Given the description of an element on the screen output the (x, y) to click on. 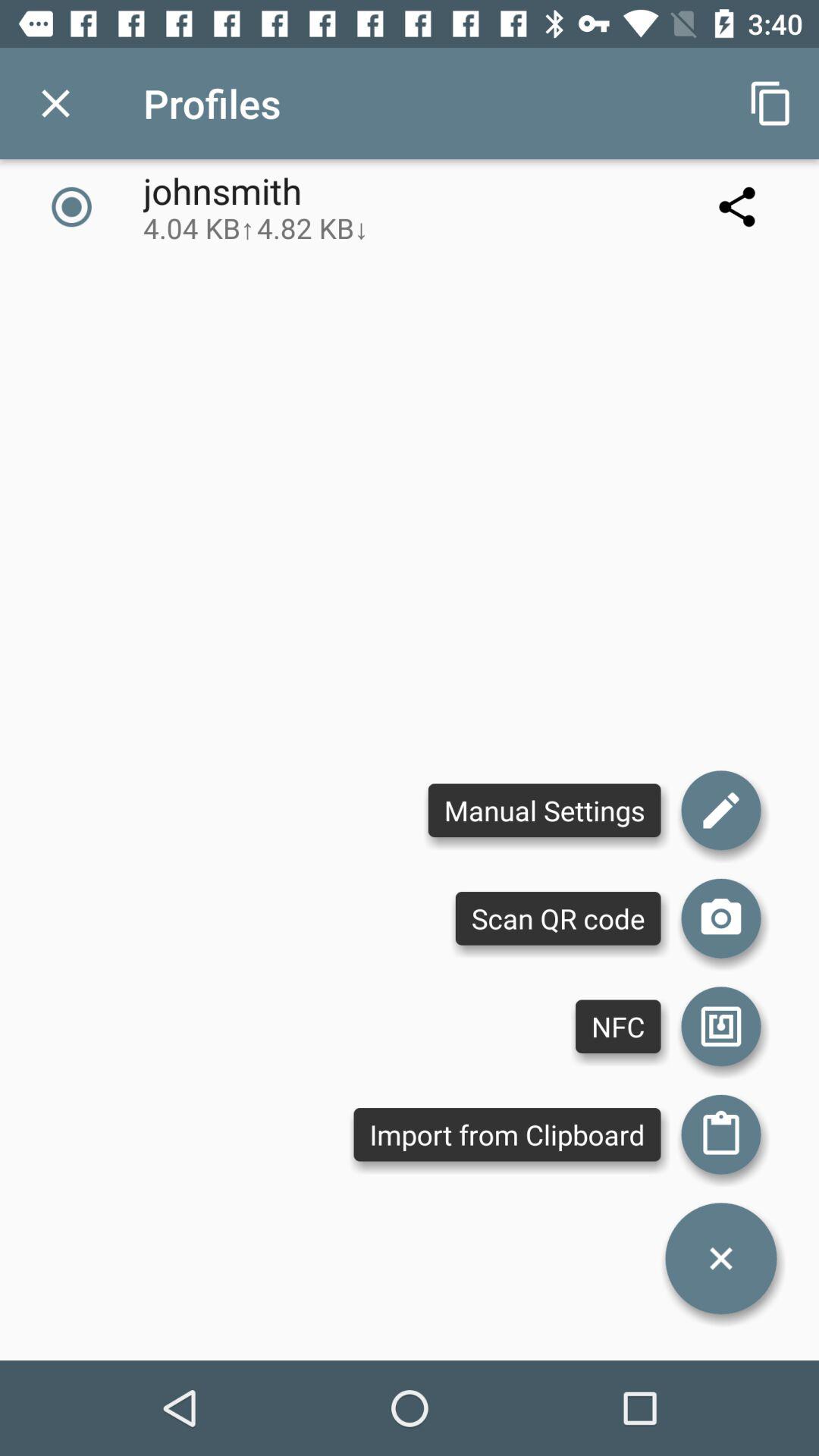
toggle nfc recognition (721, 1026)
